Given the description of an element on the screen output the (x, y) to click on. 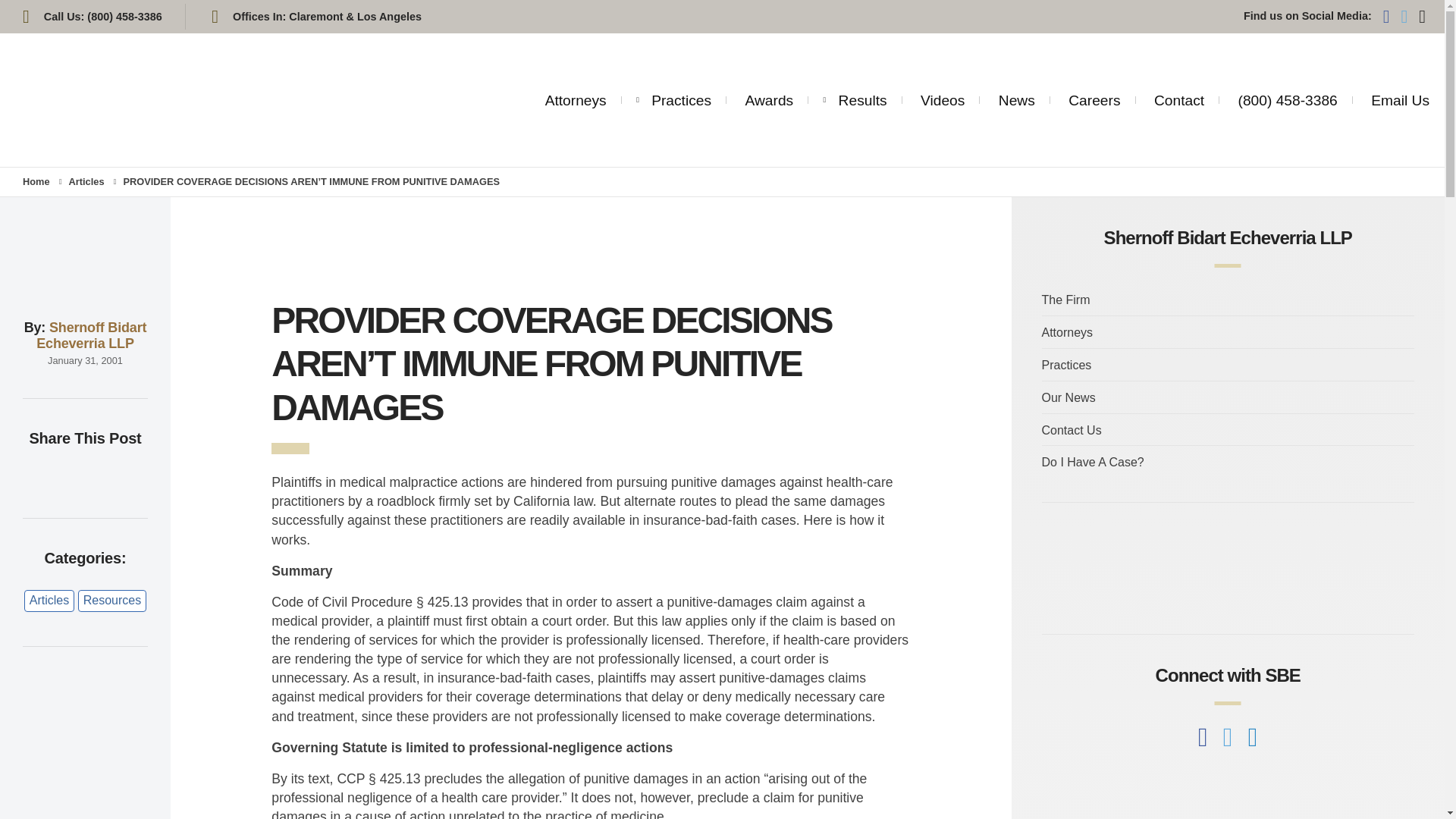
Contact (1179, 100)
Awards (769, 97)
Results (862, 98)
Videos (941, 100)
Email Us (1400, 100)
Attorneys (575, 92)
View all posts in Articles (86, 182)
Careers (1093, 100)
Practices (680, 94)
